Given the description of an element on the screen output the (x, y) to click on. 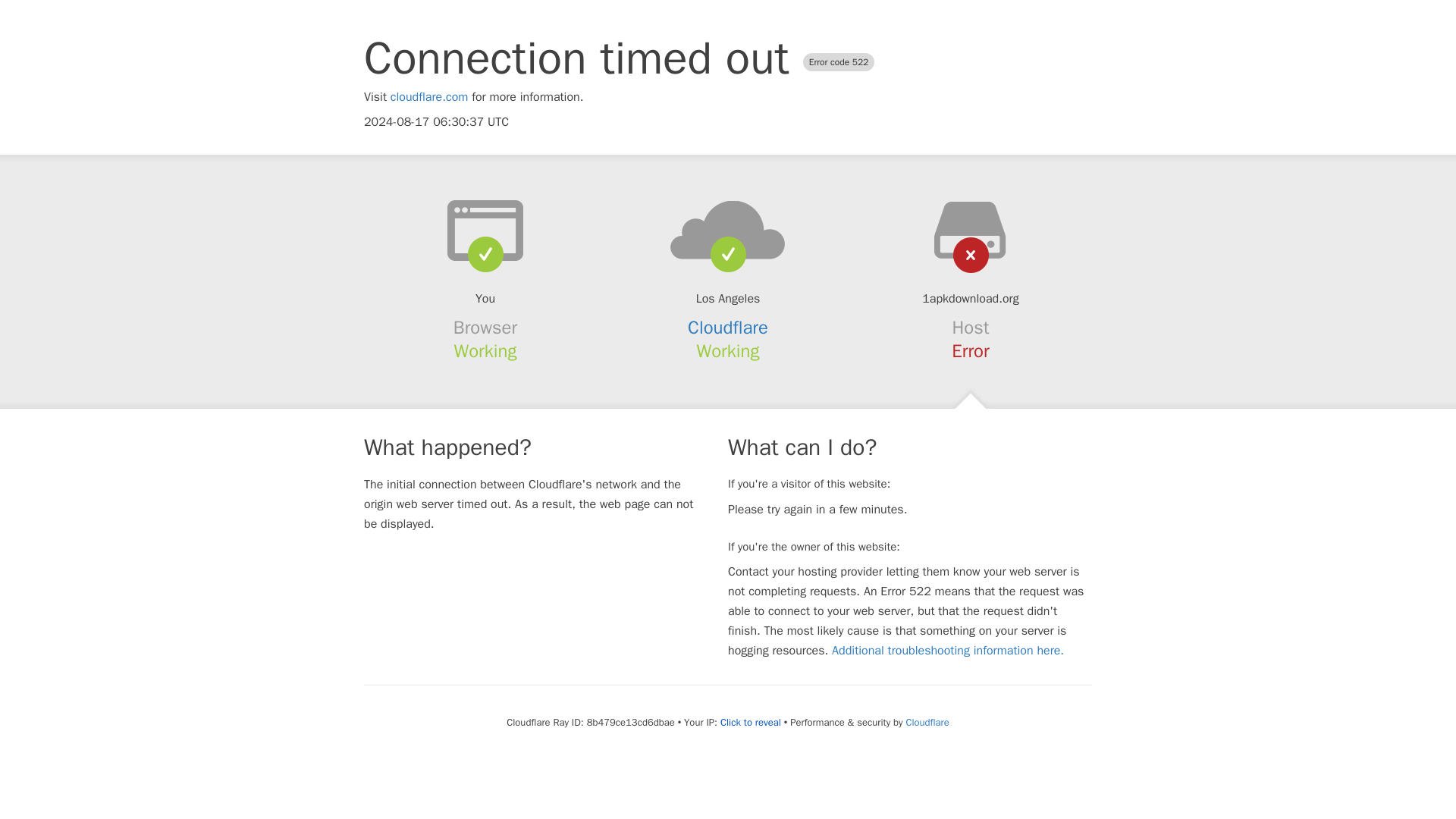
Cloudflare (727, 327)
Additional troubleshooting information here. (947, 650)
Click to reveal (750, 722)
Cloudflare (927, 721)
cloudflare.com (429, 96)
